Given the description of an element on the screen output the (x, y) to click on. 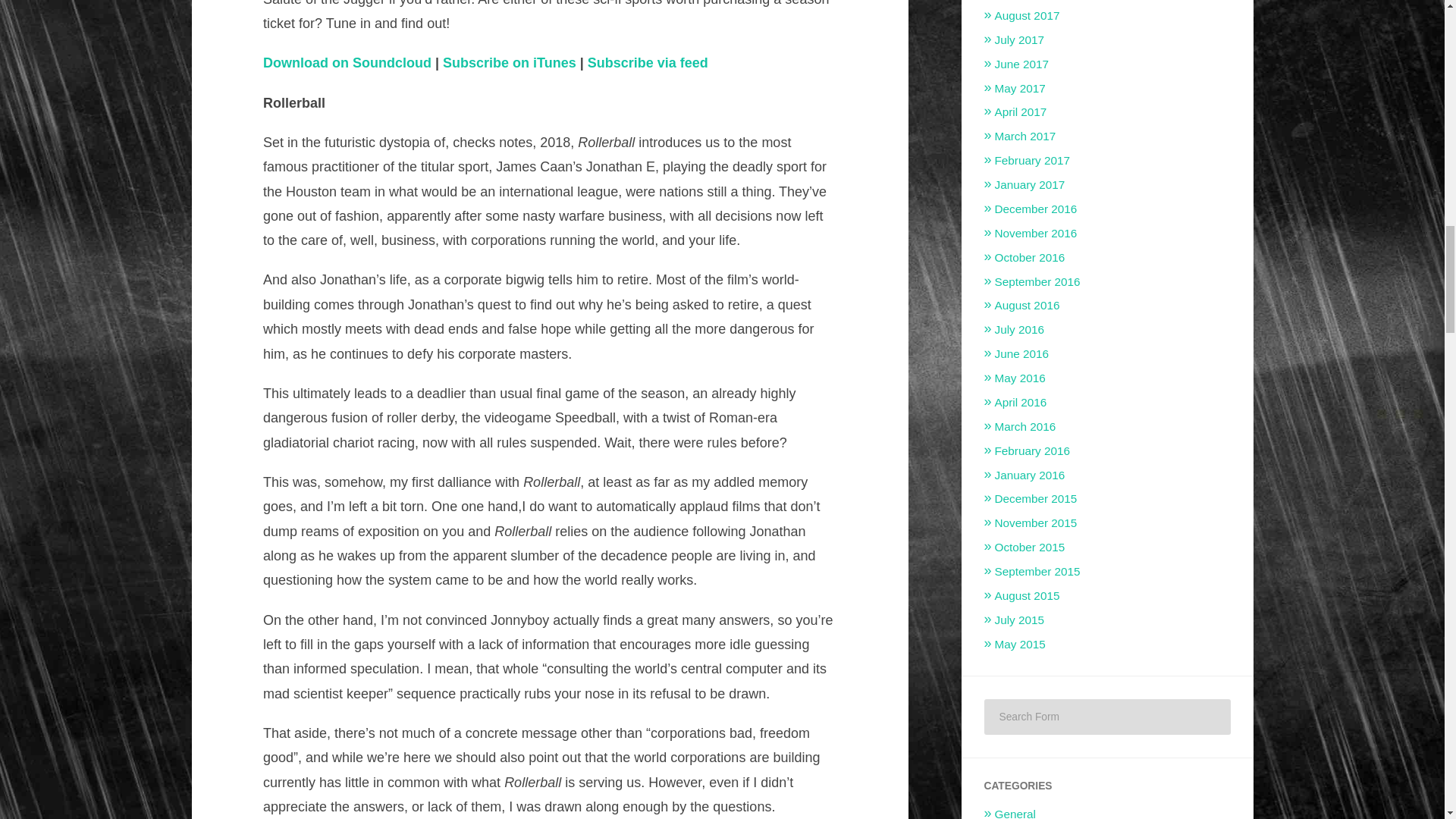
Subscribe on iTunes (509, 62)
Search (1209, 716)
Search (1209, 716)
Download on Soundcloud (346, 62)
Subscribe via feed (647, 62)
